Given the description of an element on the screen output the (x, y) to click on. 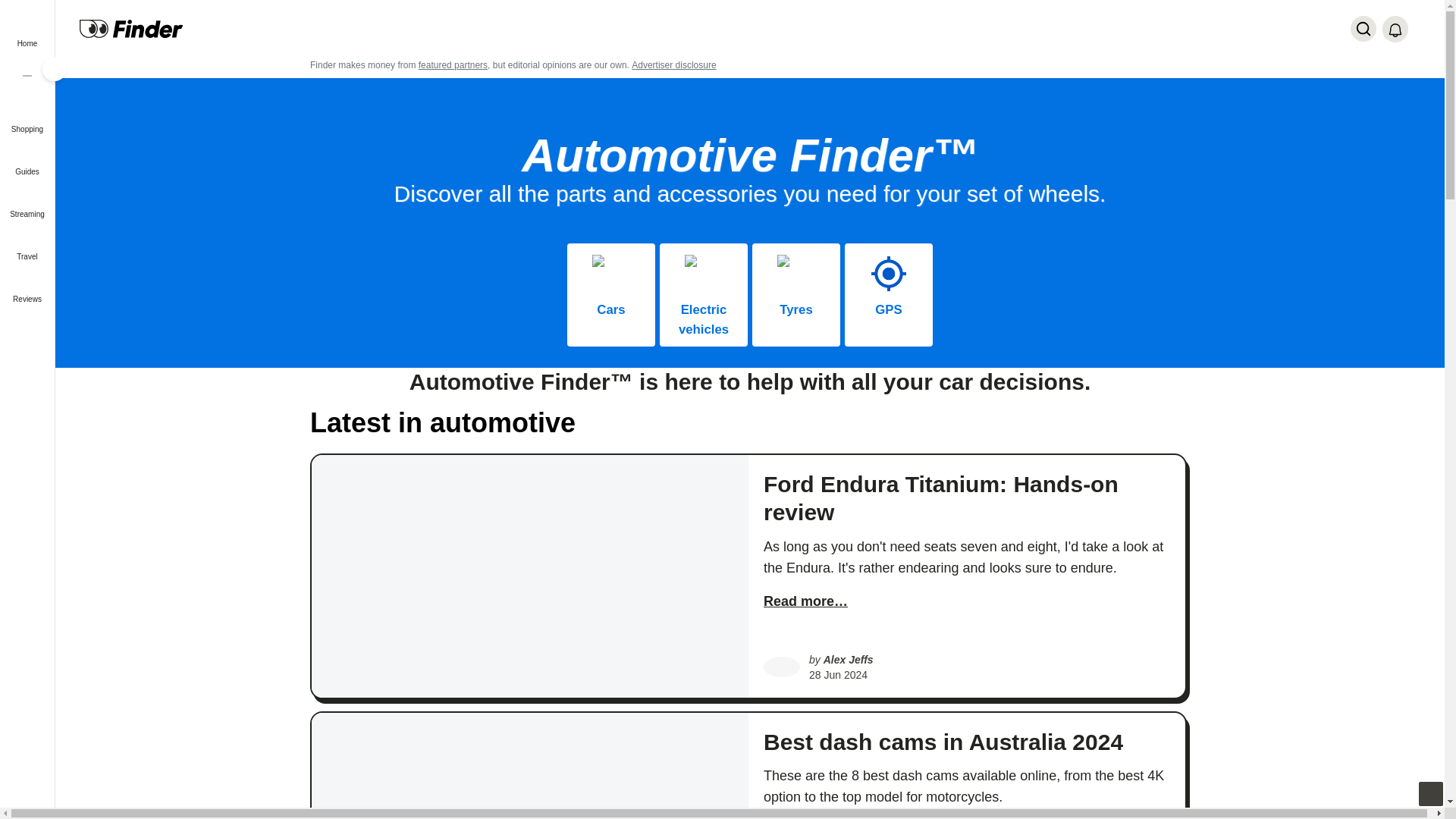
Advertiser disclosure (673, 64)
Image: Supplied (703, 273)
featured partners (453, 64)
28 Jun 2024 (838, 674)
Important information about this website (673, 64)
Image: Supplied (611, 273)
Image: Supplied (888, 273)
Image: Supplied (796, 273)
